Given the description of an element on the screen output the (x, y) to click on. 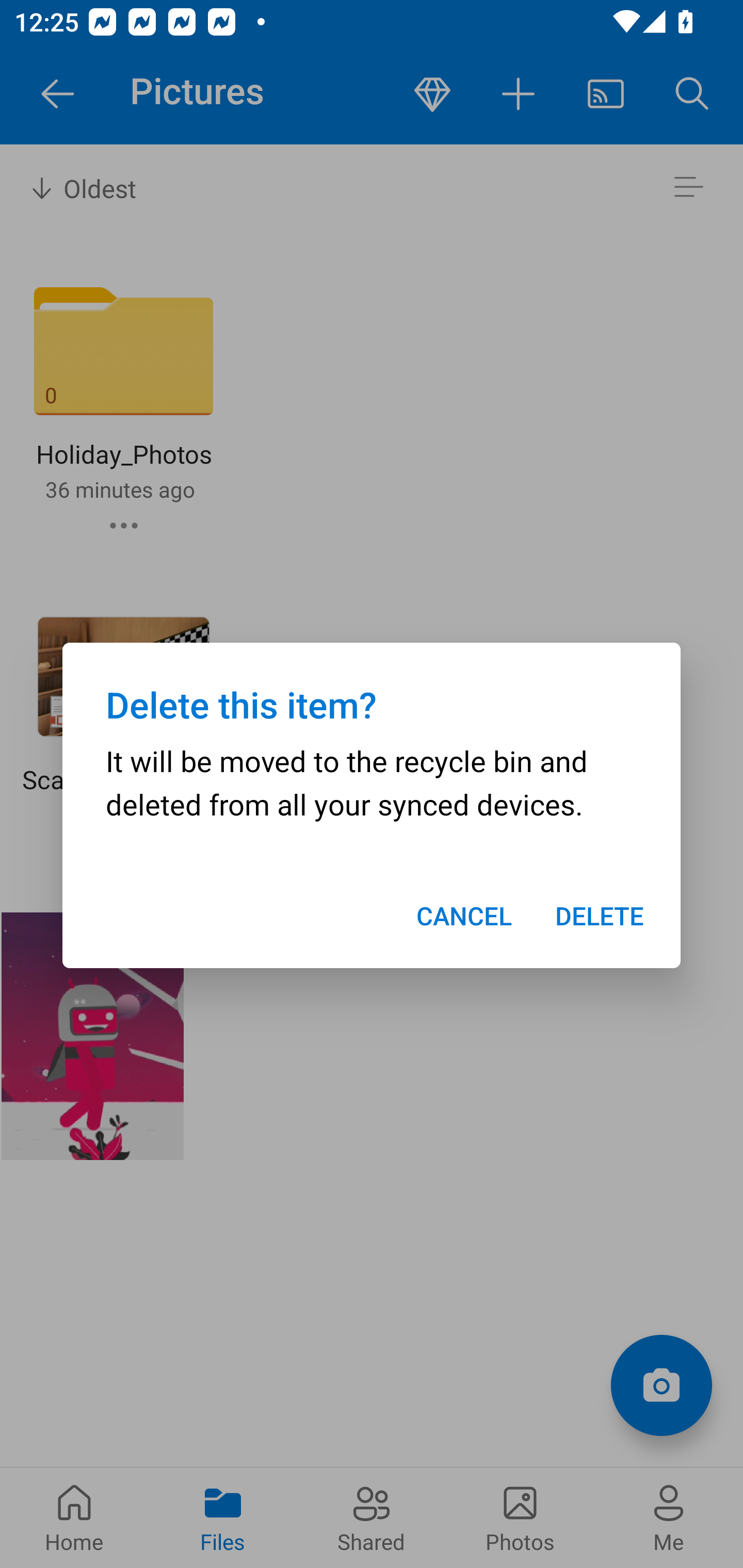
CANCEL (463, 915)
DELETE (599, 915)
